Given the description of an element on the screen output the (x, y) to click on. 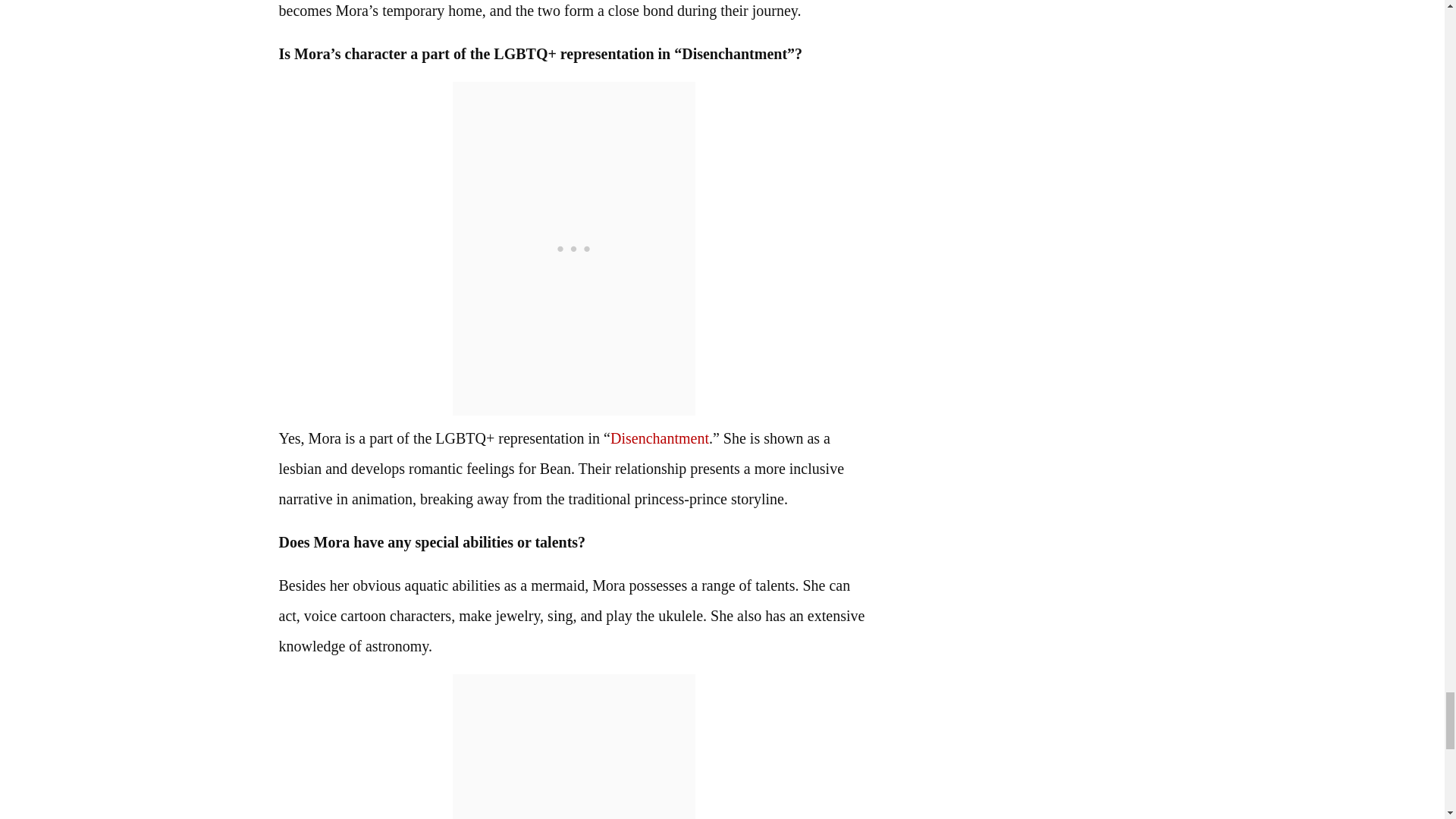
Disenchantment (659, 437)
